Given the description of an element on the screen output the (x, y) to click on. 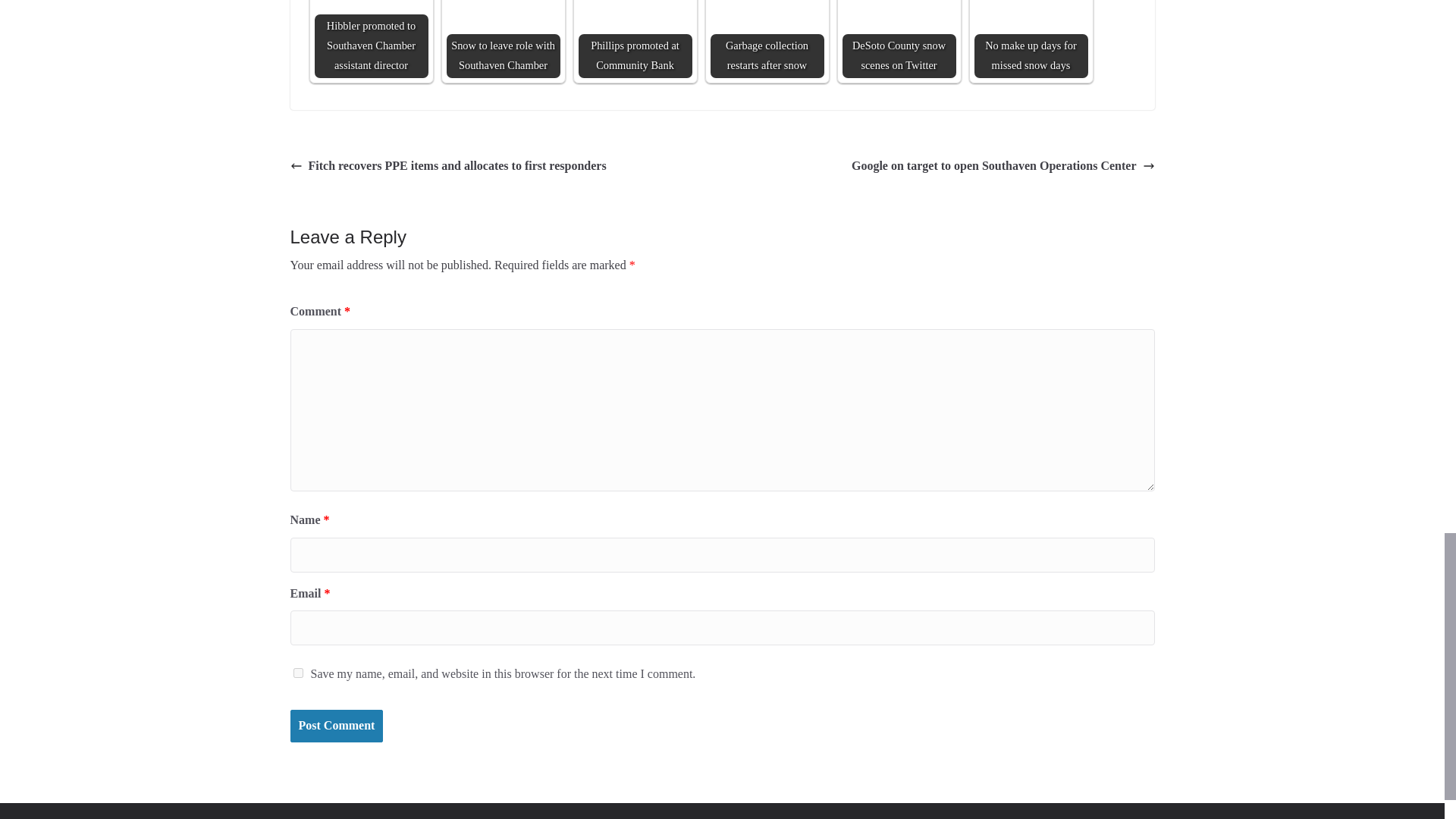
Post Comment (335, 726)
Hibbler promoted to Southaven Chamber assistant director (371, 38)
No make up days for missed snow days (1030, 38)
DeSoto County snow scenes on Twitter (898, 38)
Garbage collection restarts after snow (767, 38)
Snow to leave role with Southaven Chamber (502, 20)
yes (297, 673)
Phillips promoted at Community Bank (634, 38)
